Given the description of an element on the screen output the (x, y) to click on. 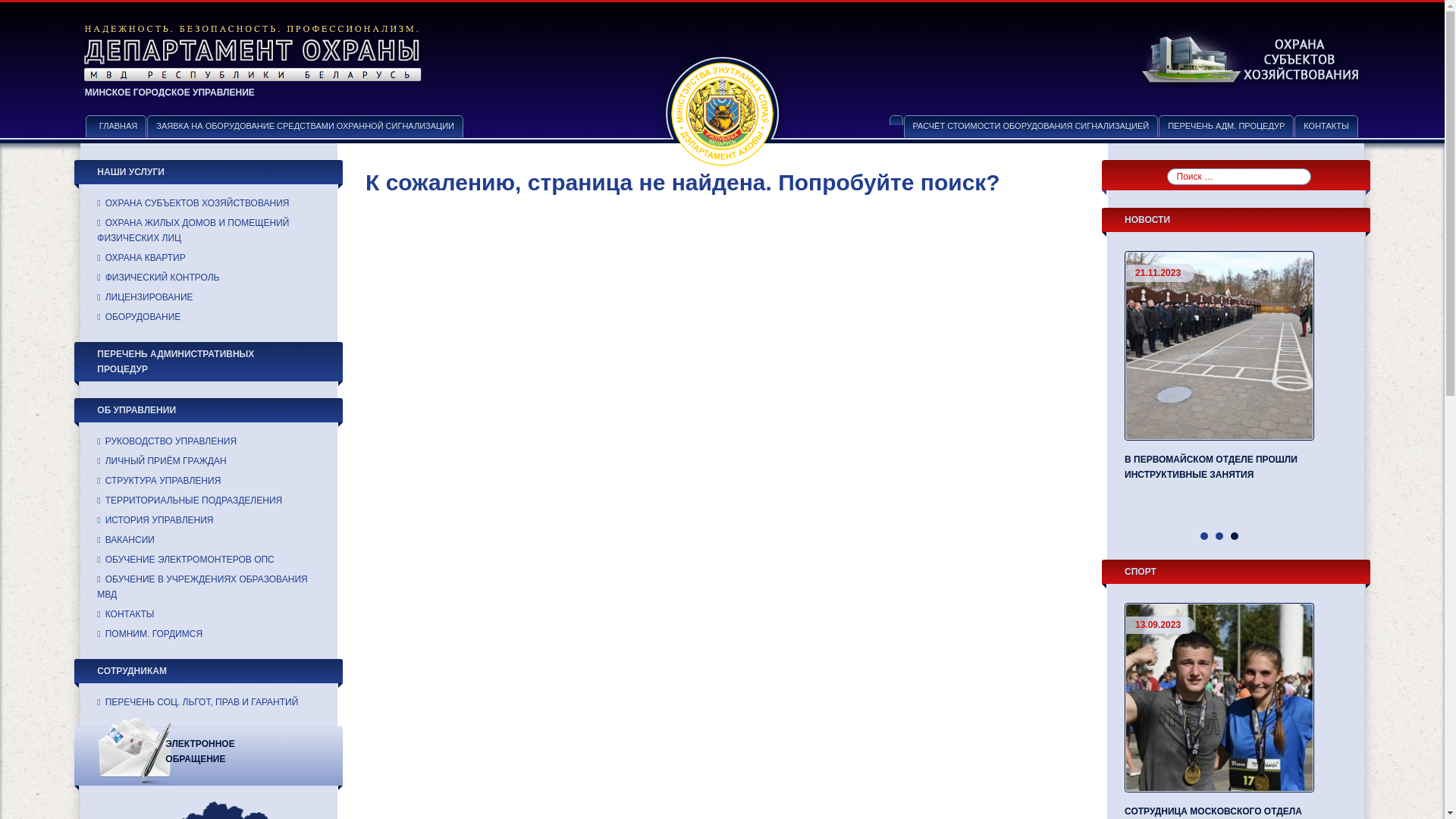
1 Element type: text (1204, 535)
2 Element type: text (1219, 535)
3 Element type: text (1234, 535)
